Given the description of an element on the screen output the (x, y) to click on. 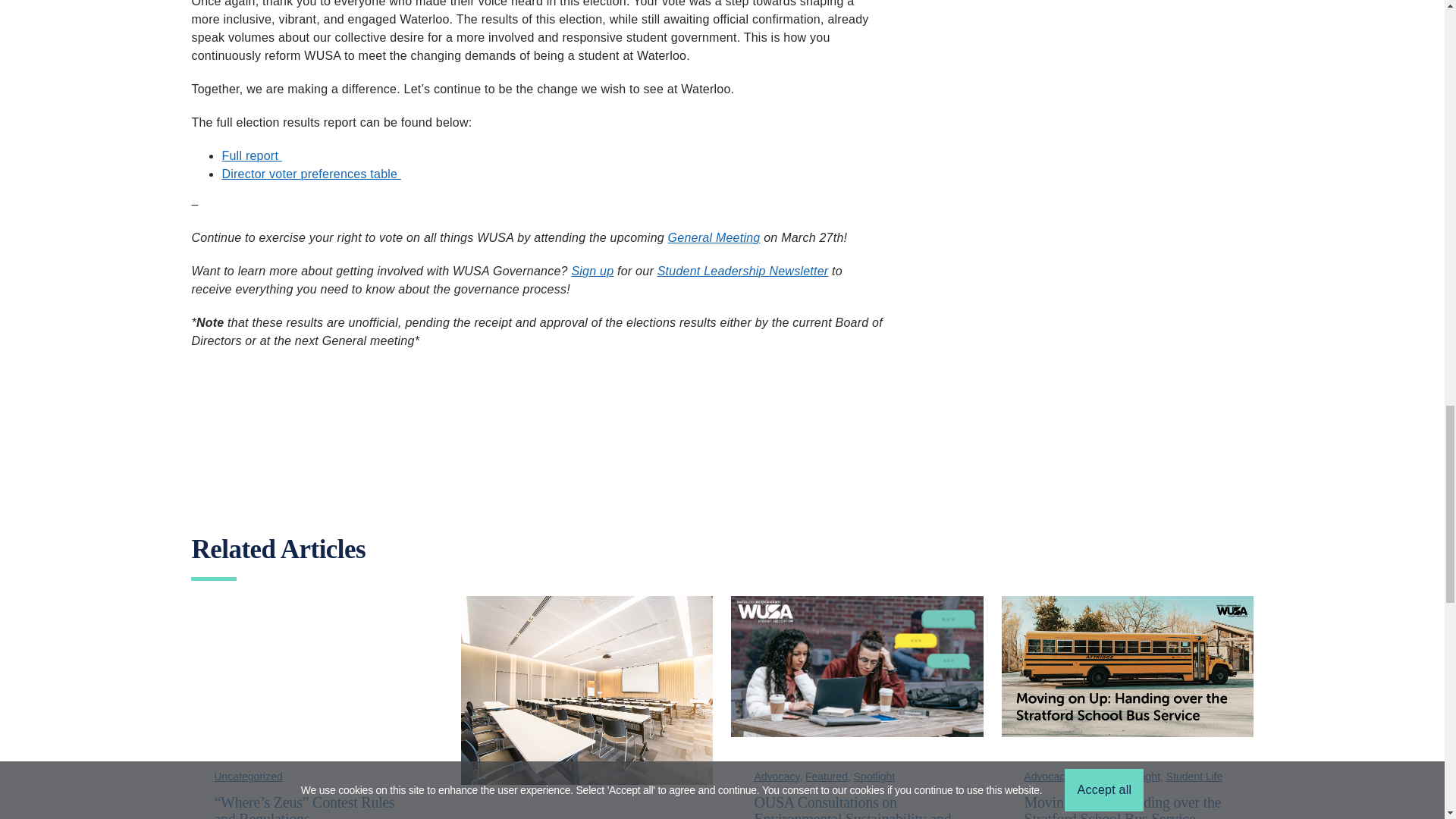
Uncategorized (248, 776)
Featured (826, 776)
Advocacy (776, 776)
Advocacy (1045, 776)
Spotlight (874, 776)
Governance (512, 818)
General (1094, 776)
